Given the description of an element on the screen output the (x, y) to click on. 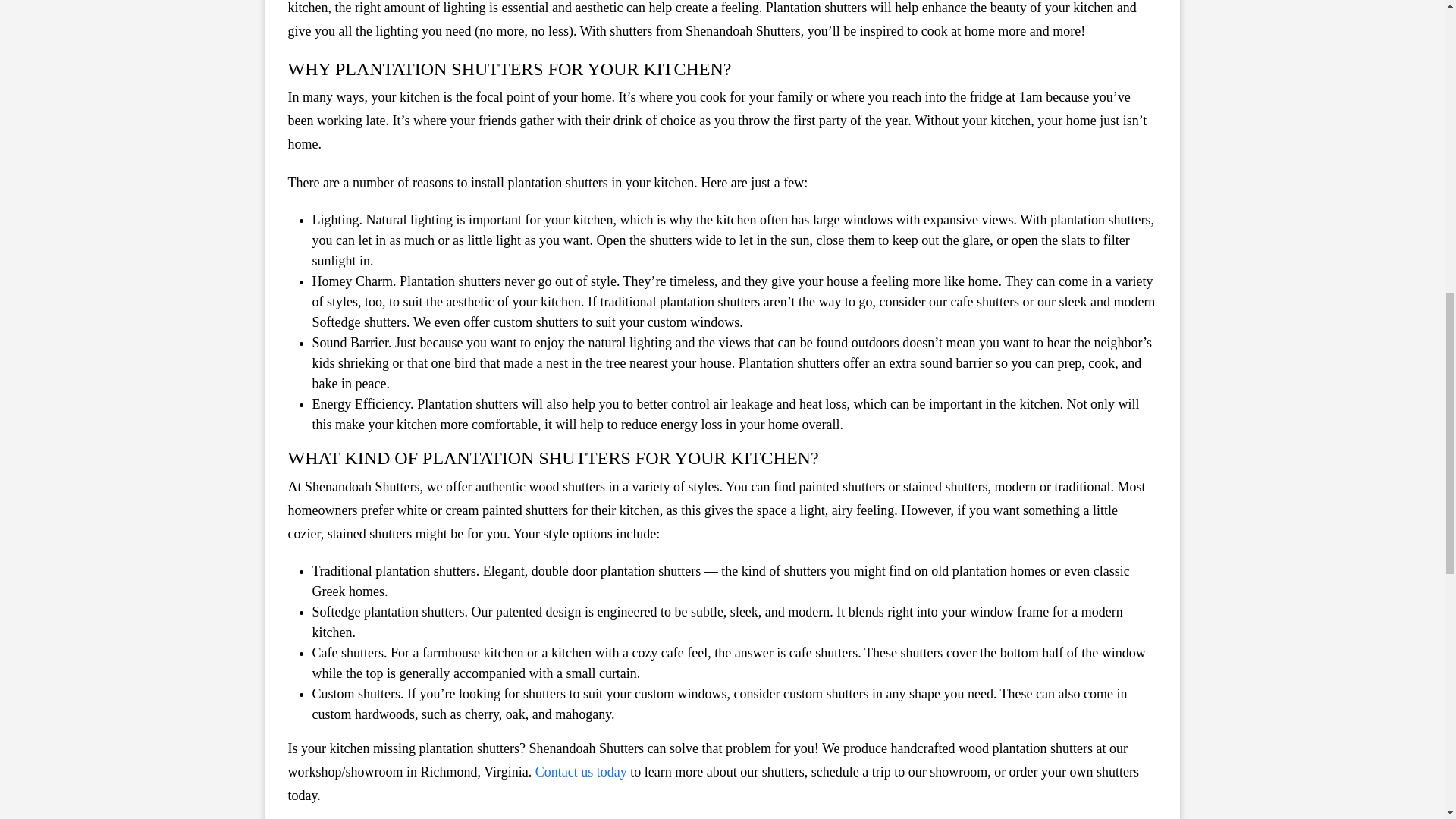
Contact us today (581, 771)
